Given the description of an element on the screen output the (x, y) to click on. 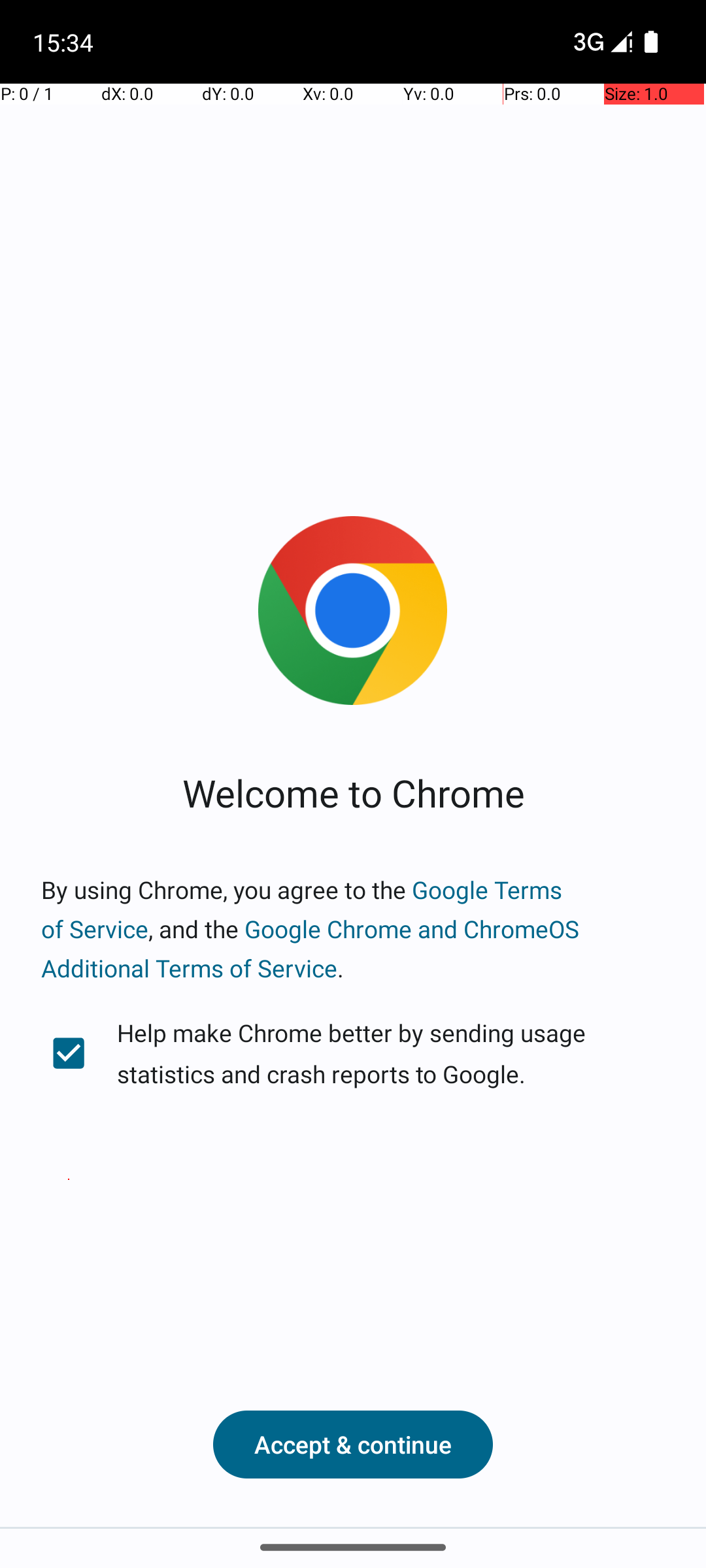
By using Chrome, you agree to the Google Terms of Service, and the Google Chrome and ChromeOS Additional Terms of Service. Element type: android.widget.TextView (352, 928)
Help make Chrome better by sending usage statistics and crash reports to Google. Element type: android.widget.CheckBox (352, 1053)
